Given the description of an element on the screen output the (x, y) to click on. 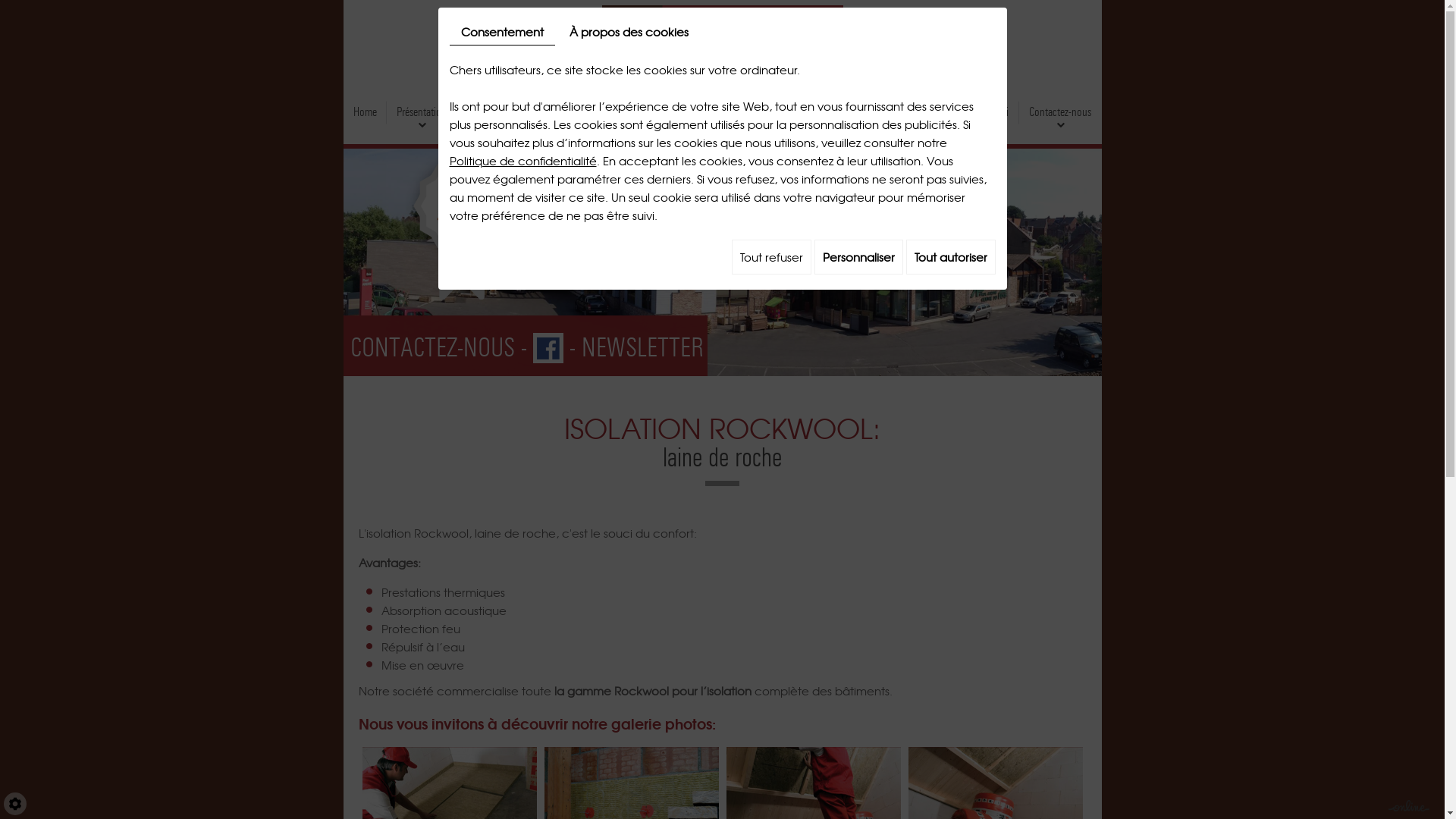
Promotions Element type: text (848, 111)
CONTACTEZ-NOUS Element type: text (432, 347)
Tout autoriser Element type: text (949, 256)
Contactez-nous Element type: text (1059, 111)
Personnaliser Element type: text (858, 256)
Emploi Element type: text (994, 111)
NEWSLETTER Element type: text (641, 347)
Tout refuser Element type: text (770, 256)
Autres produits et services Element type: text (751, 111)
Consentement Element type: text (501, 31)
Home Element type: text (364, 111)
